Given the description of an element on the screen output the (x, y) to click on. 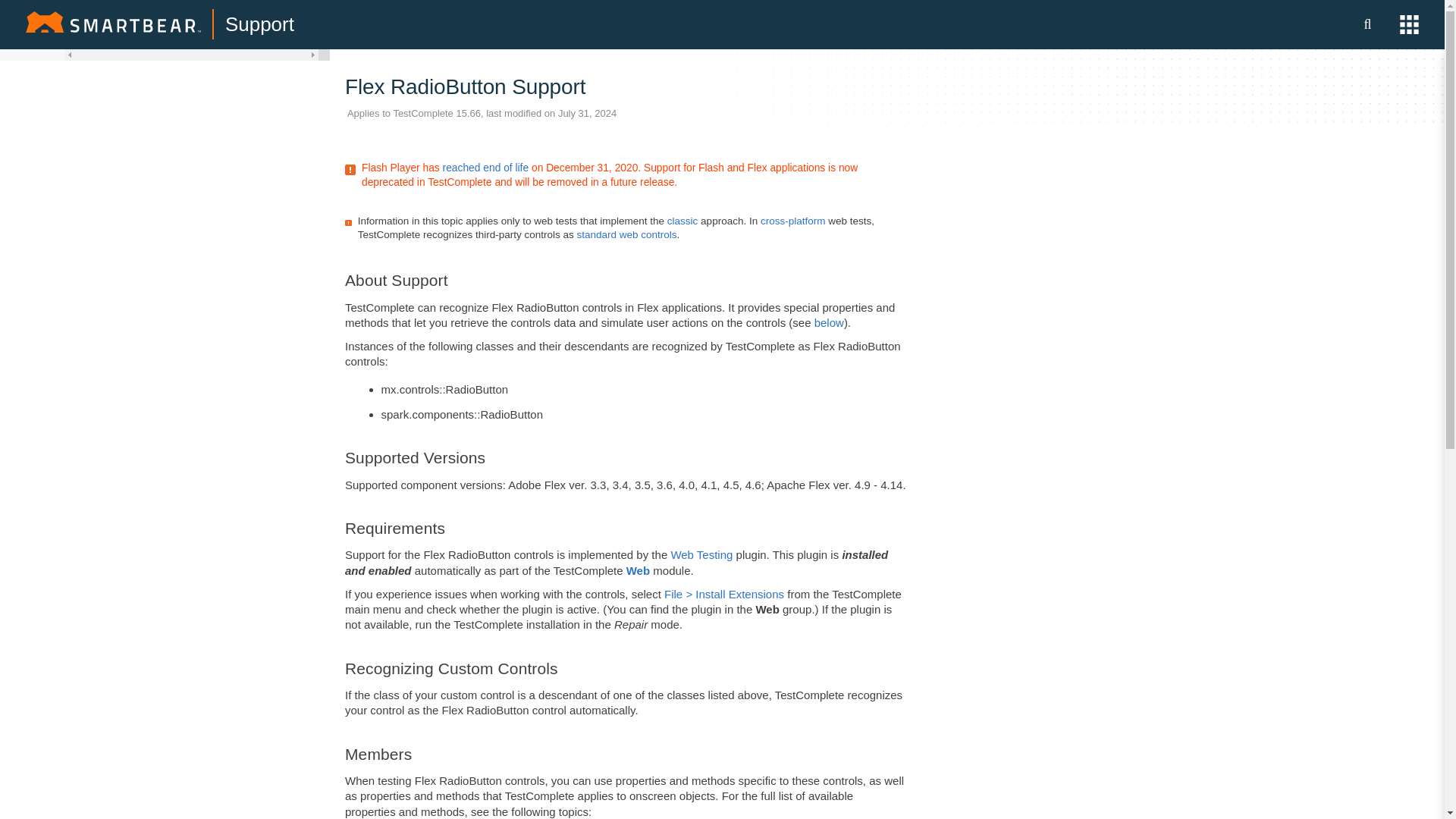
below (828, 322)
reached end of life (485, 167)
standard web controls (626, 234)
Web Testing (700, 554)
cross-platform (792, 220)
Support (259, 24)
Web (637, 570)
classic (682, 220)
